Given the description of an element on the screen output the (x, y) to click on. 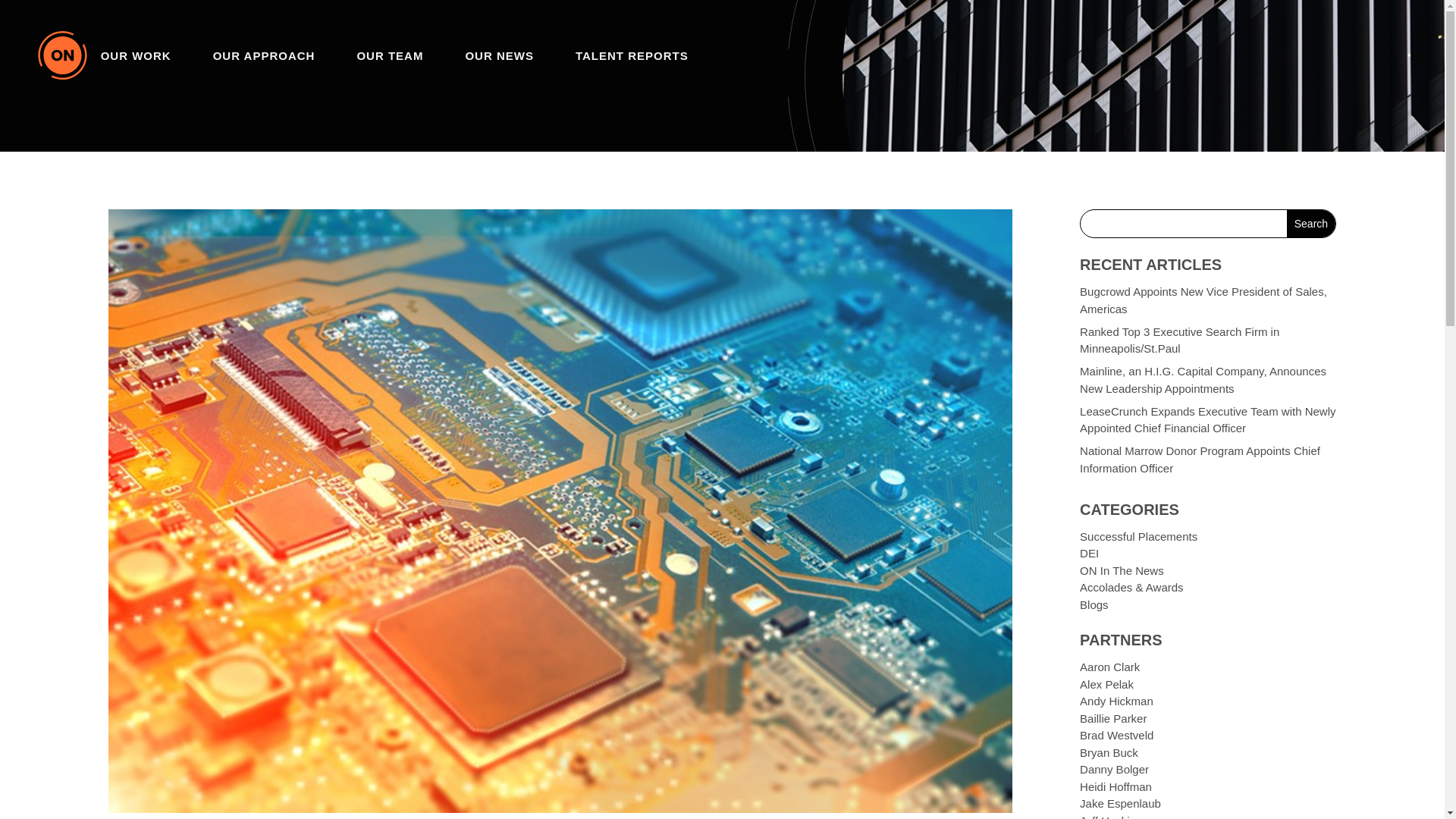
OUR TEAM (389, 55)
Search (1311, 223)
Search (1311, 223)
OUR APPROACH (264, 55)
OUR NEWS (498, 55)
TALENT REPORTS (632, 55)
OUR WORK (135, 55)
